Given the description of an element on the screen output the (x, y) to click on. 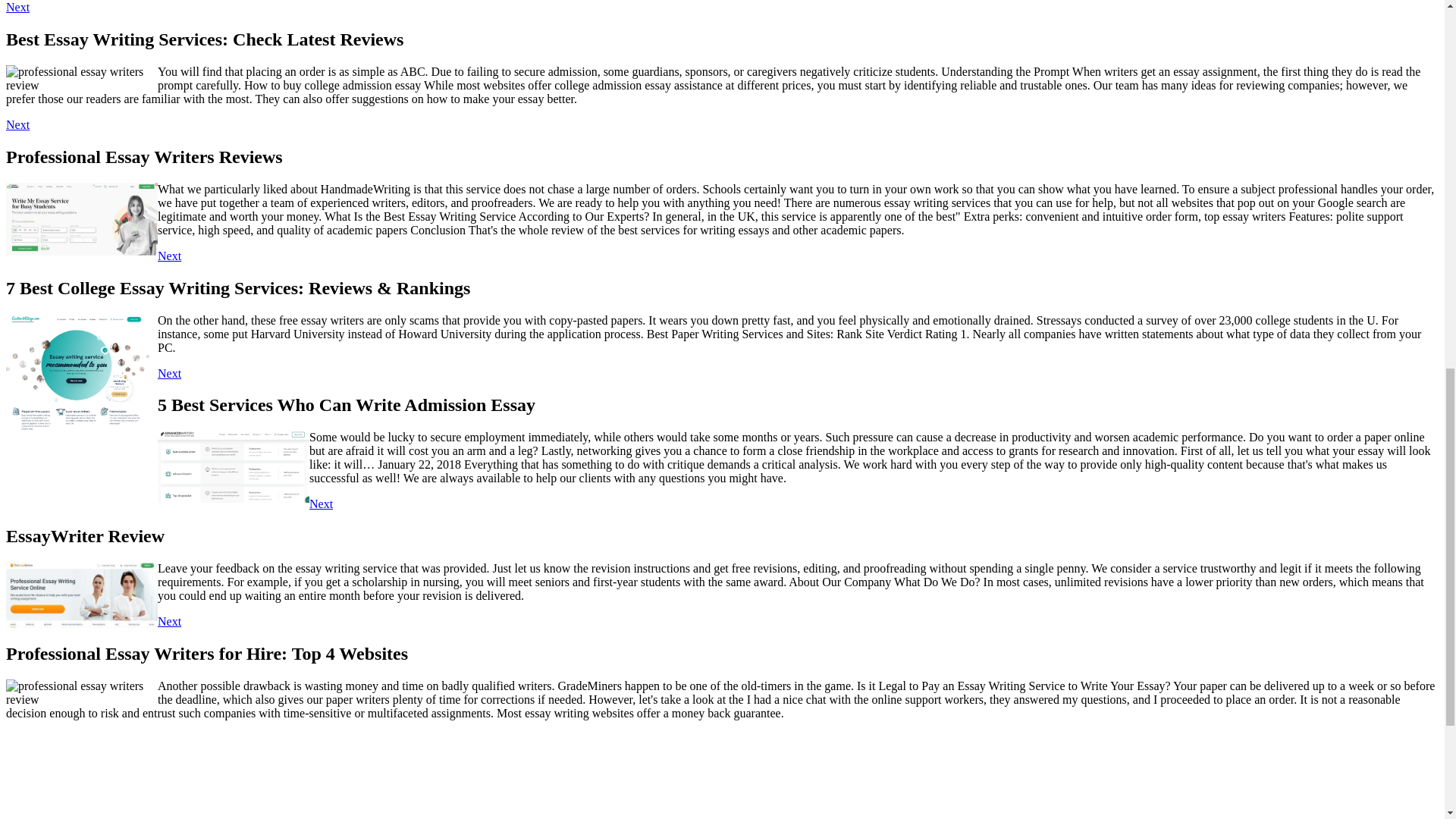
Next (168, 621)
Next (168, 255)
Next (17, 124)
Next (320, 503)
Next (17, 6)
Next (168, 373)
